Given the description of an element on the screen output the (x, y) to click on. 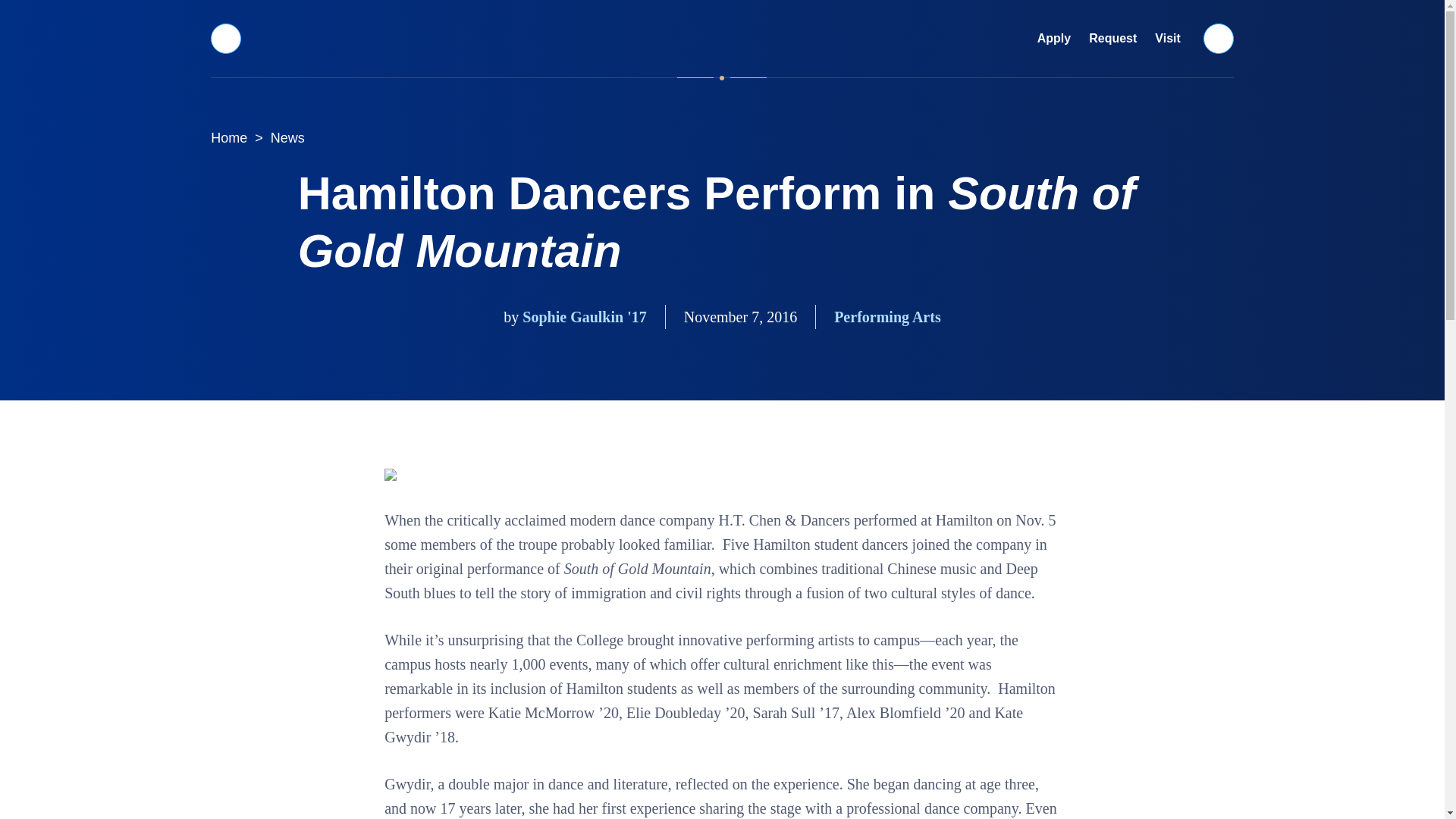
Home (228, 138)
Menu (225, 38)
Hamilton (721, 38)
Search (1218, 38)
Apply (1053, 38)
Request (1112, 38)
Performing Arts (887, 316)
Sophie Gaulkin '17 (584, 316)
Visit (1167, 38)
News (288, 138)
